Given the description of an element on the screen output the (x, y) to click on. 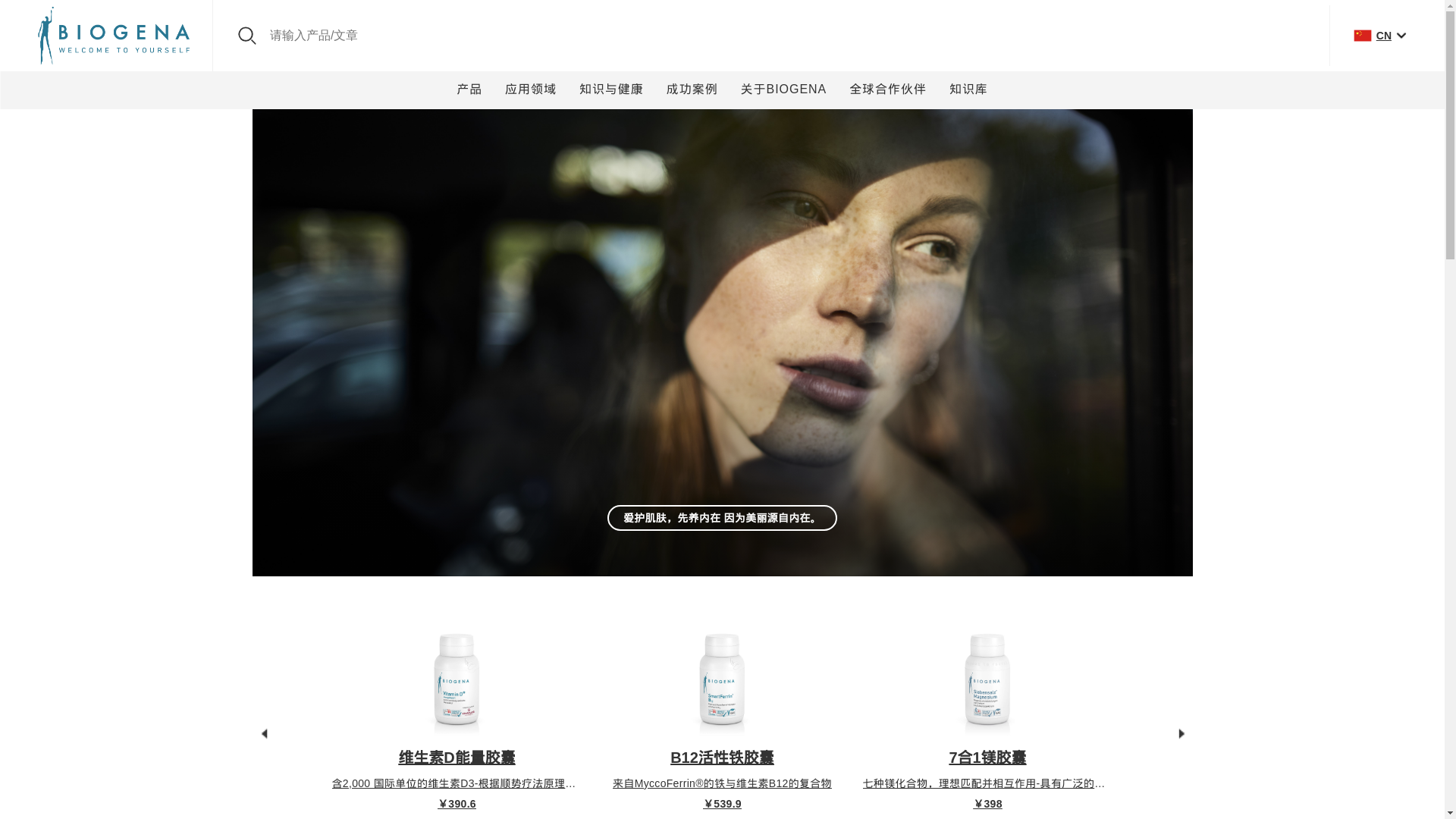
CN (1379, 35)
